Given the description of an element on the screen output the (x, y) to click on. 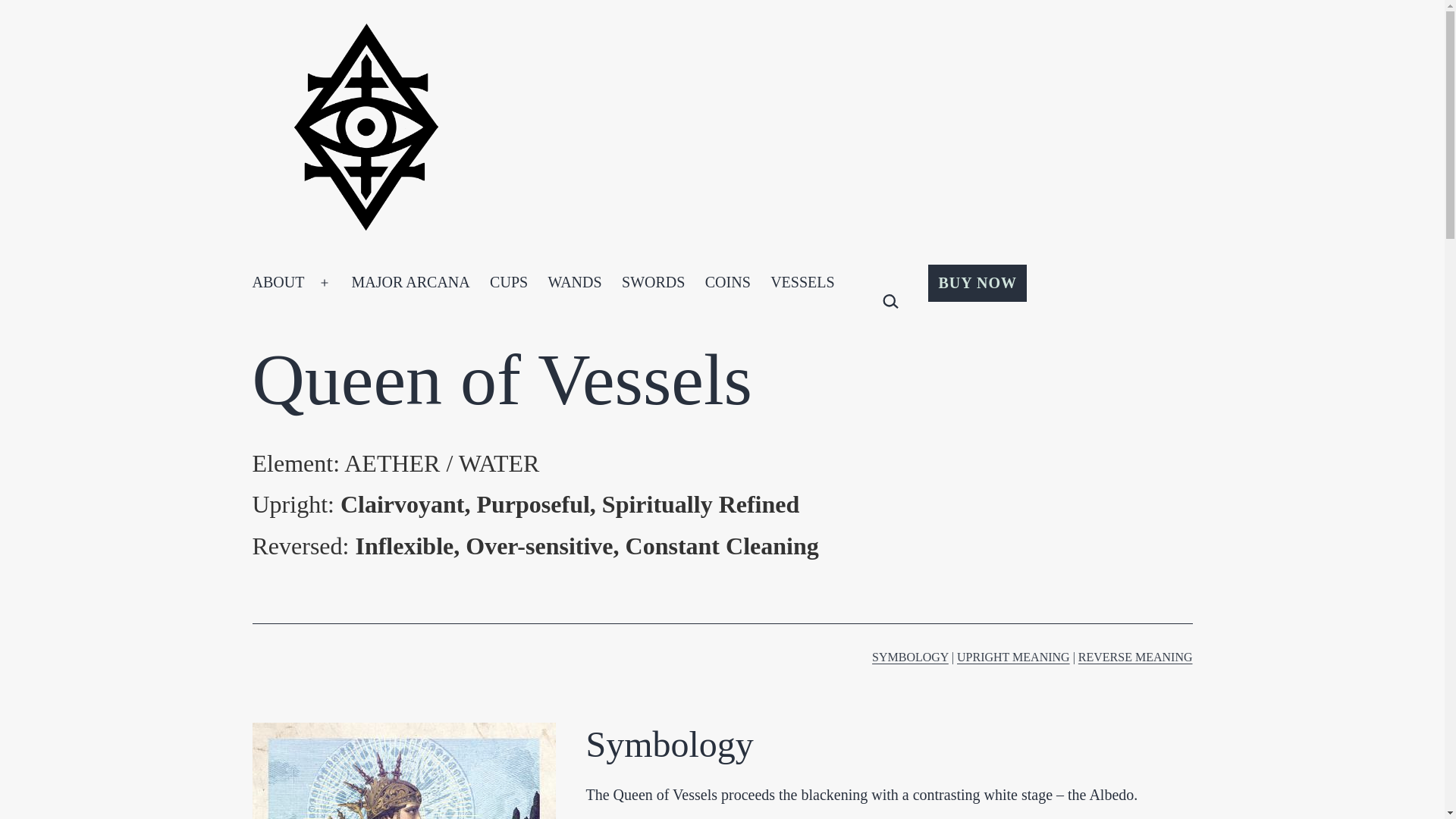
ABOUT (277, 282)
SWORDS (653, 282)
BUY NOW (977, 282)
UPRIGHT MEANING (1013, 656)
COINS (727, 282)
WANDS (574, 282)
SYMBOLOGY (910, 656)
CUPS (508, 282)
REVERSE MEANING (1135, 656)
VESSELS (802, 282)
